Given the description of an element on the screen output the (x, y) to click on. 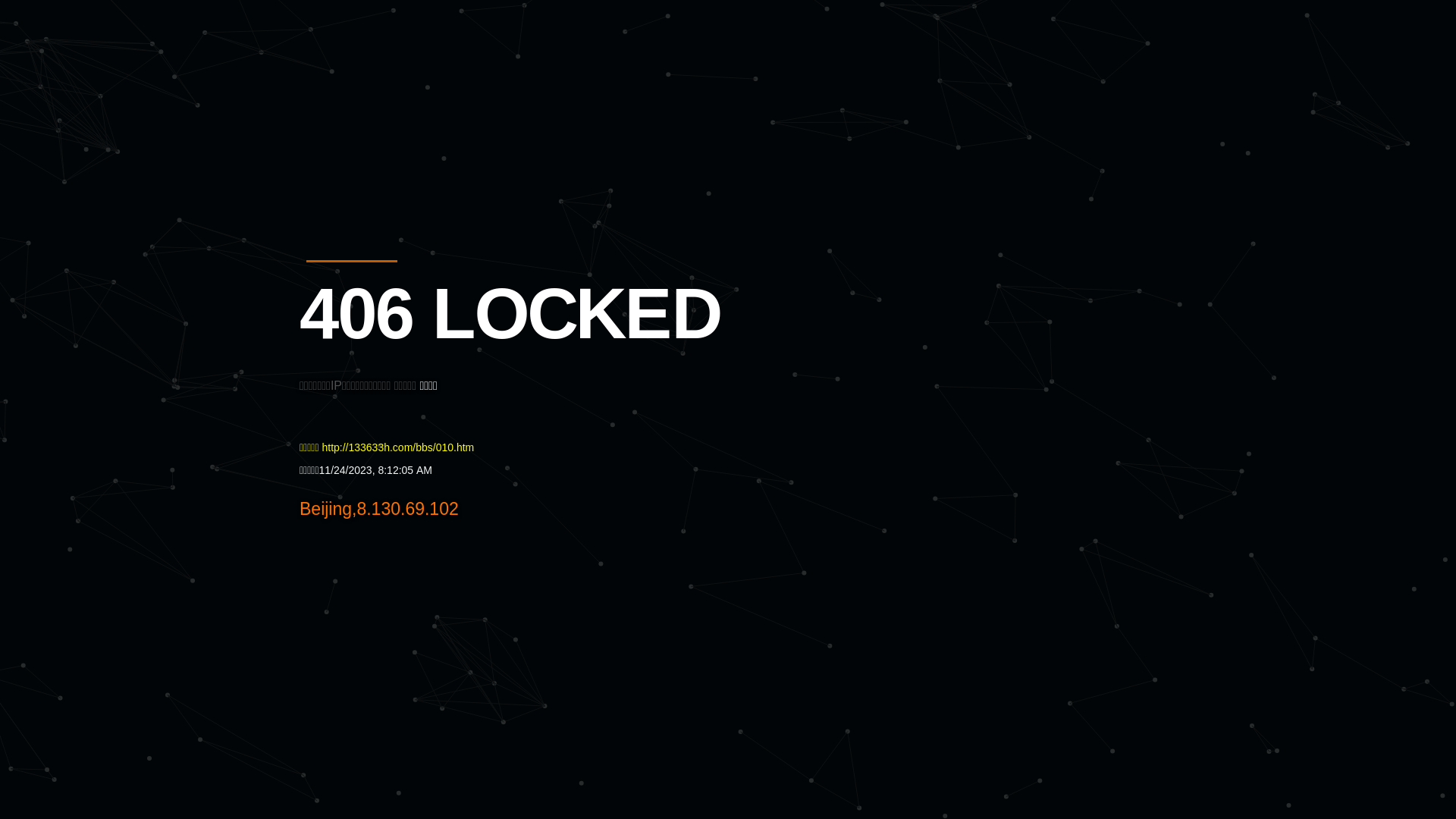
Quatro Element type: text (410, 86)
